Given the description of an element on the screen output the (x, y) to click on. 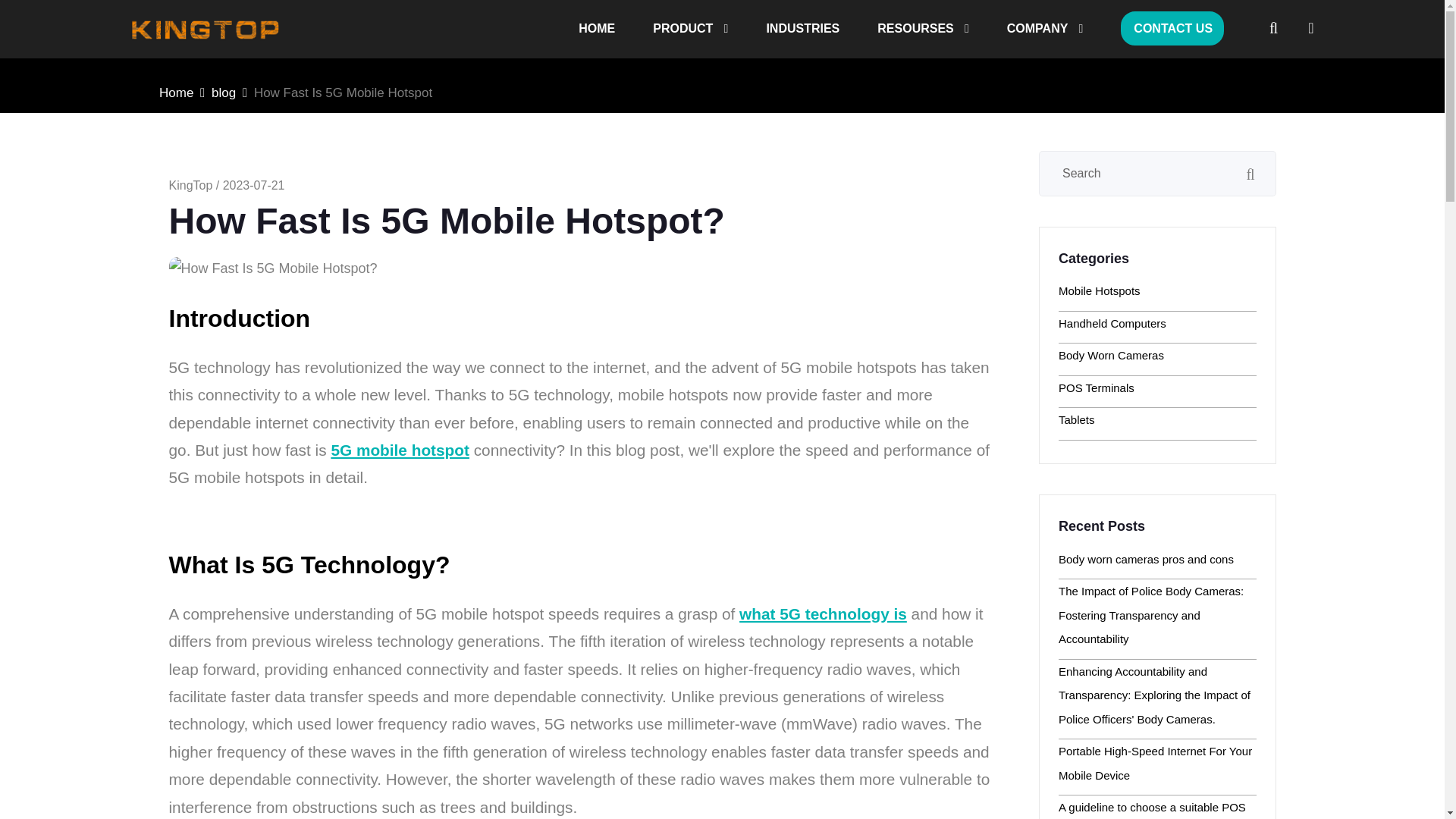
PRODUCT (690, 29)
